Given the description of an element on the screen output the (x, y) to click on. 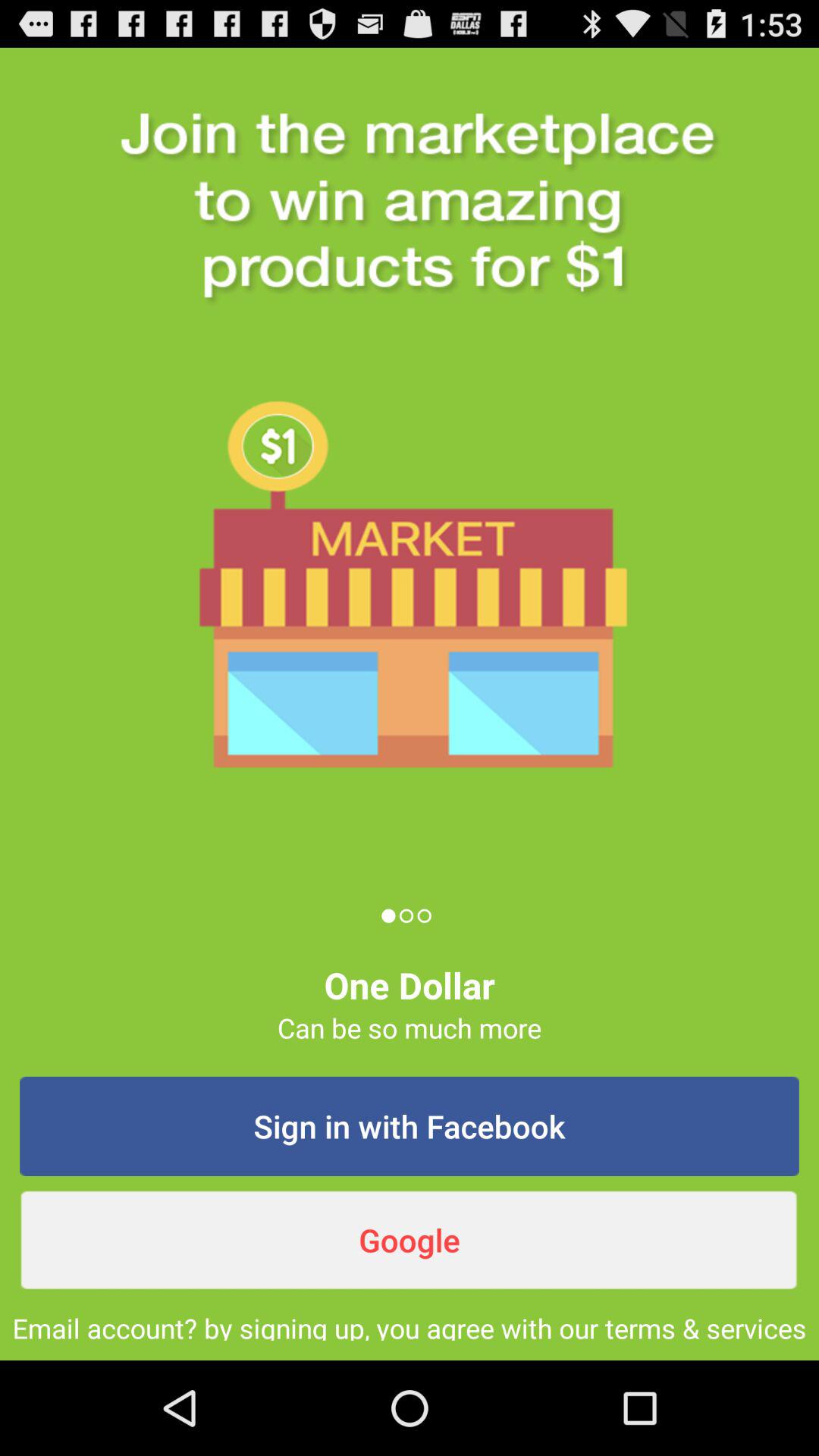
select the email account by (409, 1324)
